Given the description of an element on the screen output the (x, y) to click on. 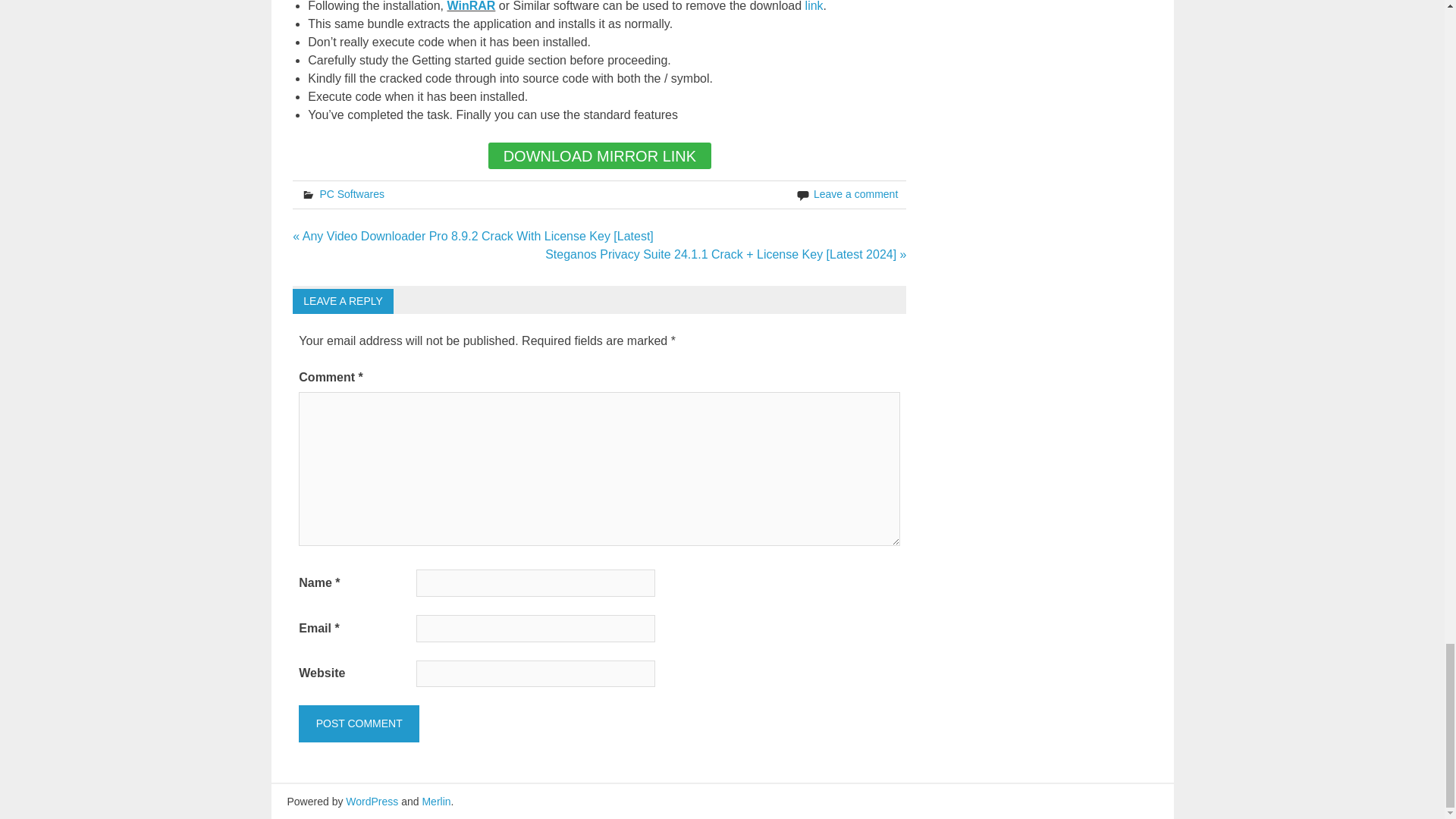
Post Comment (358, 723)
WordPress (371, 801)
Leave a comment (855, 193)
WinRAR (471, 6)
PC Softwares (351, 193)
link (814, 6)
DOWNLOAD MIRROR LINK (599, 155)
